Given the description of an element on the screen output the (x, y) to click on. 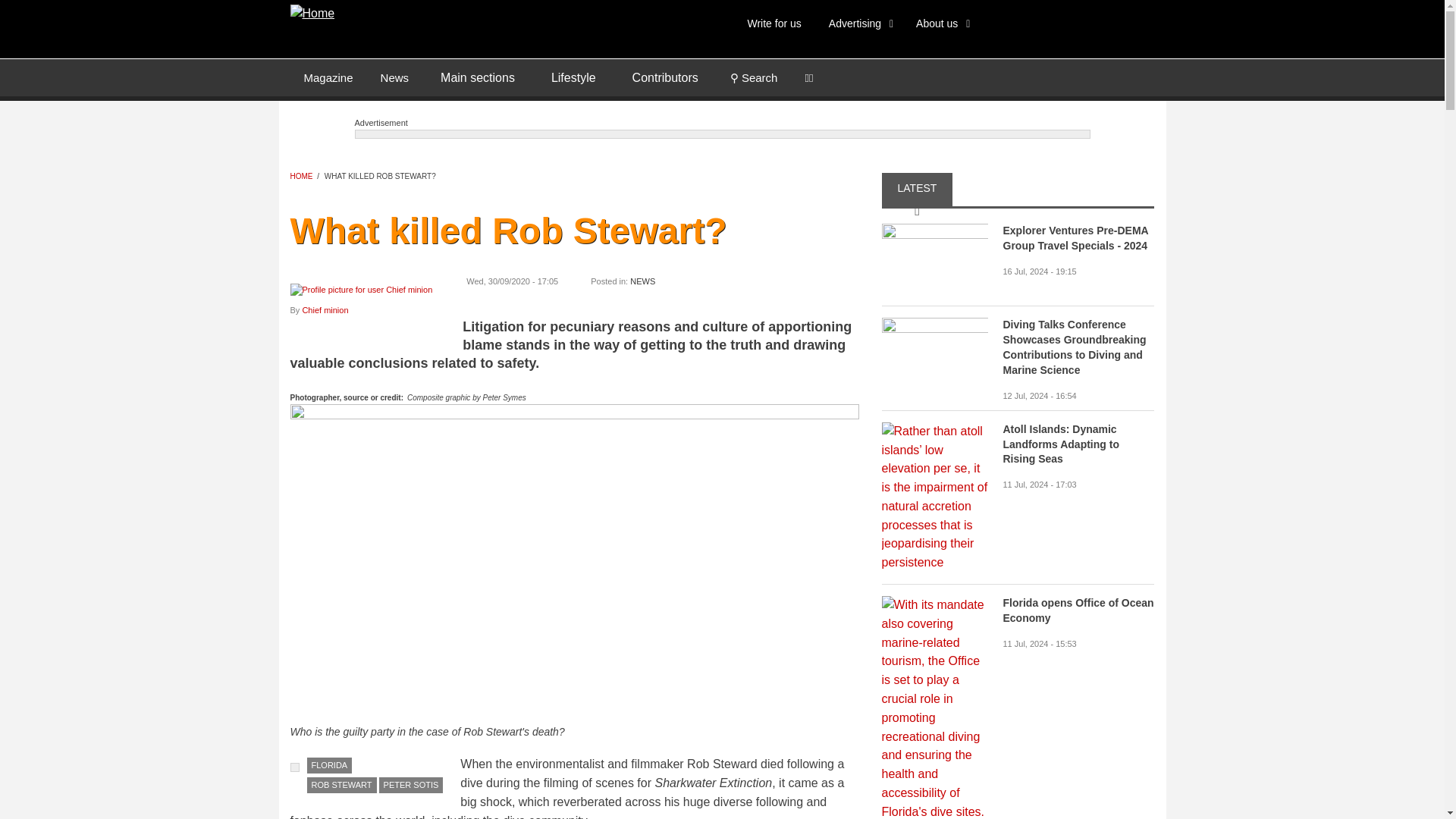
News (394, 76)
Write for us (774, 23)
About us (940, 23)
Home (311, 12)
Advertising and promotions (858, 23)
Back issues (327, 76)
Main sections (477, 77)
Magazine (327, 76)
Advertising (858, 23)
